Given the description of an element on the screen output the (x, y) to click on. 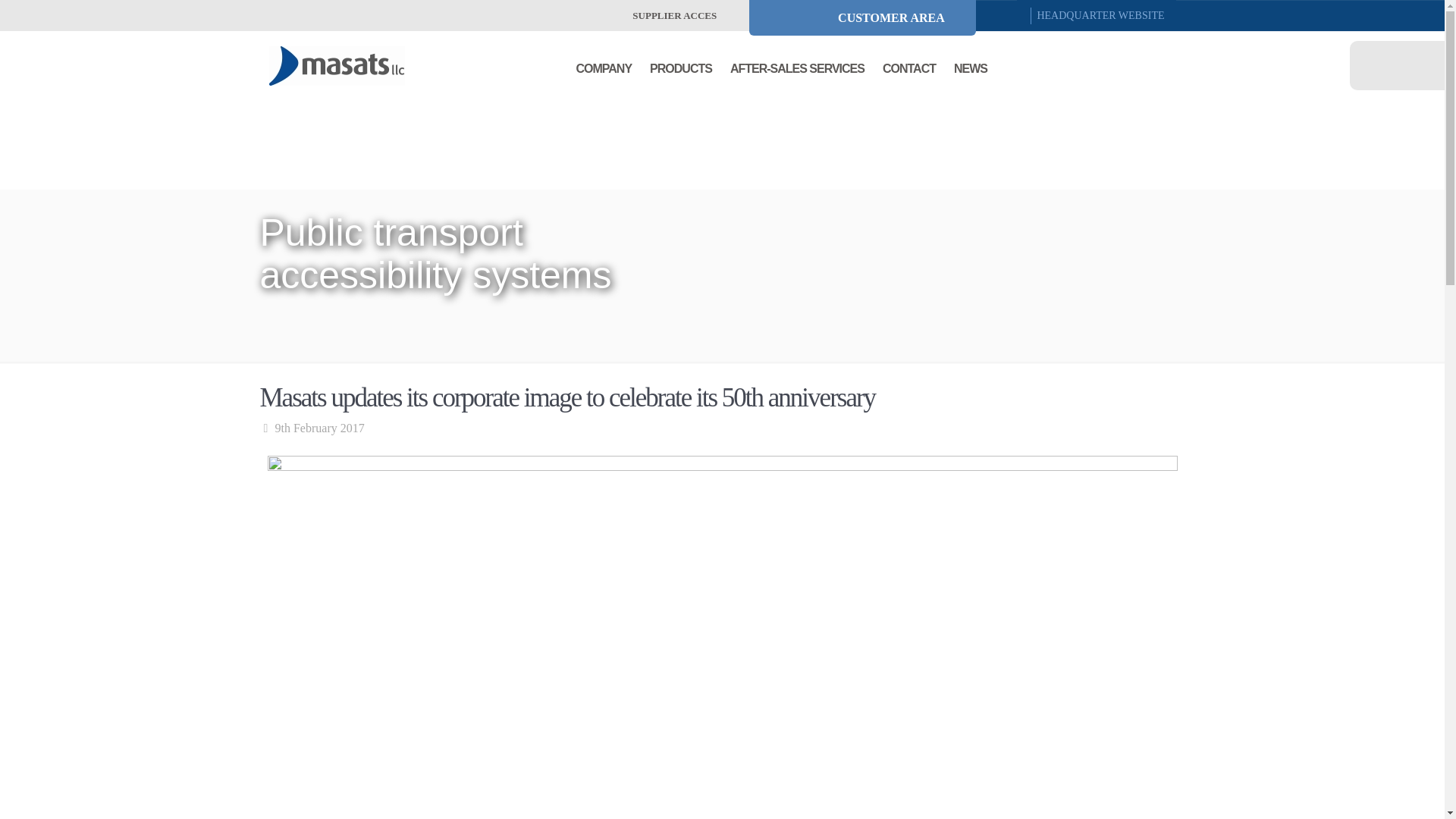
Home (283, 390)
NEWS (970, 63)
News (320, 390)
PRODUCTS (680, 63)
AFTER-SALES SERVICES (797, 63)
SUPPLIER ACCES (663, 15)
Masats (335, 65)
HEADQUARTER WEBSITE (1101, 15)
COMPANY (603, 63)
CONTACT (909, 63)
CUSTOMER AREA (862, 18)
